Given the description of an element on the screen output the (x, y) to click on. 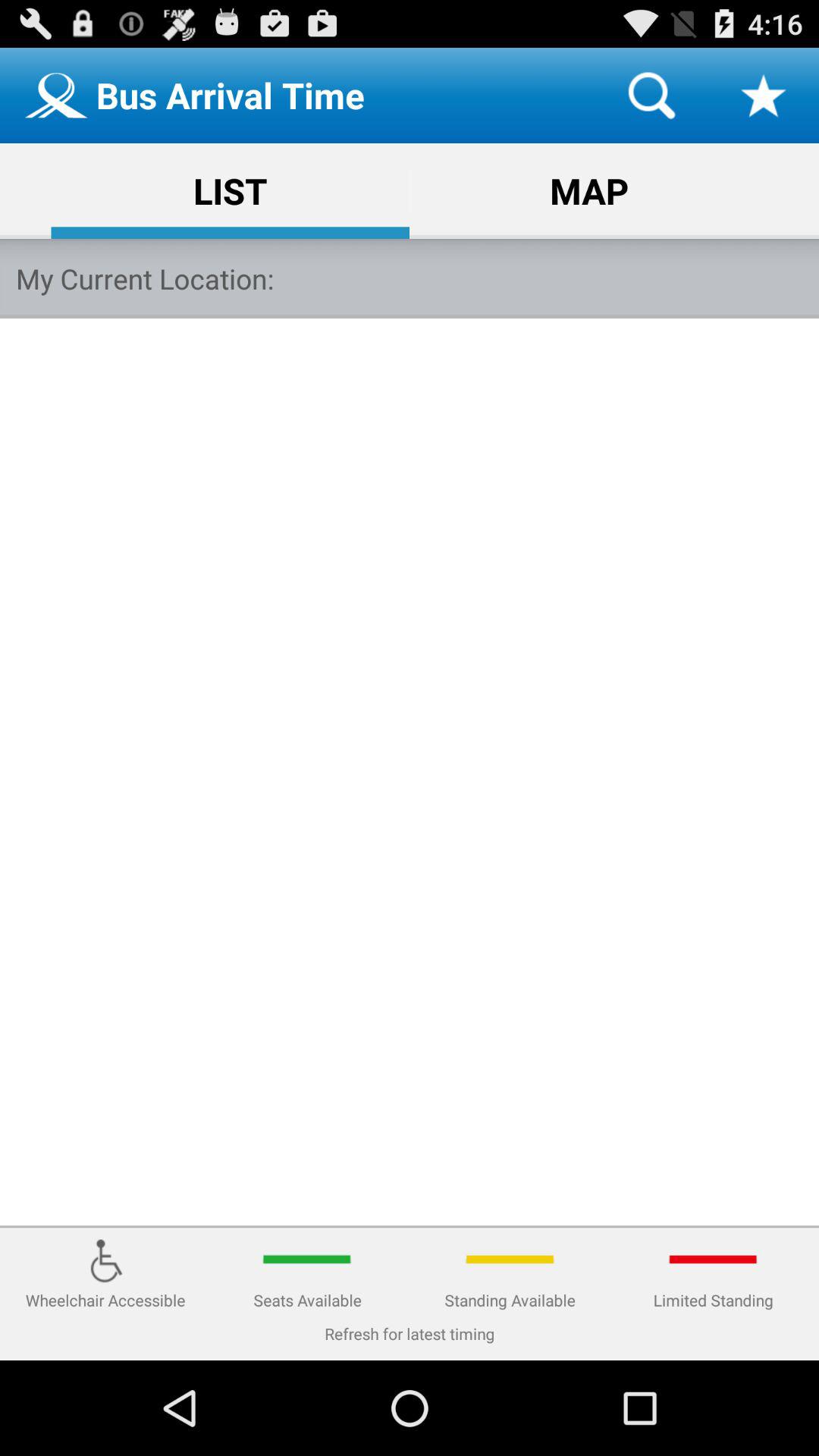
choose the app above the map icon (651, 95)
